Given the description of an element on the screen output the (x, y) to click on. 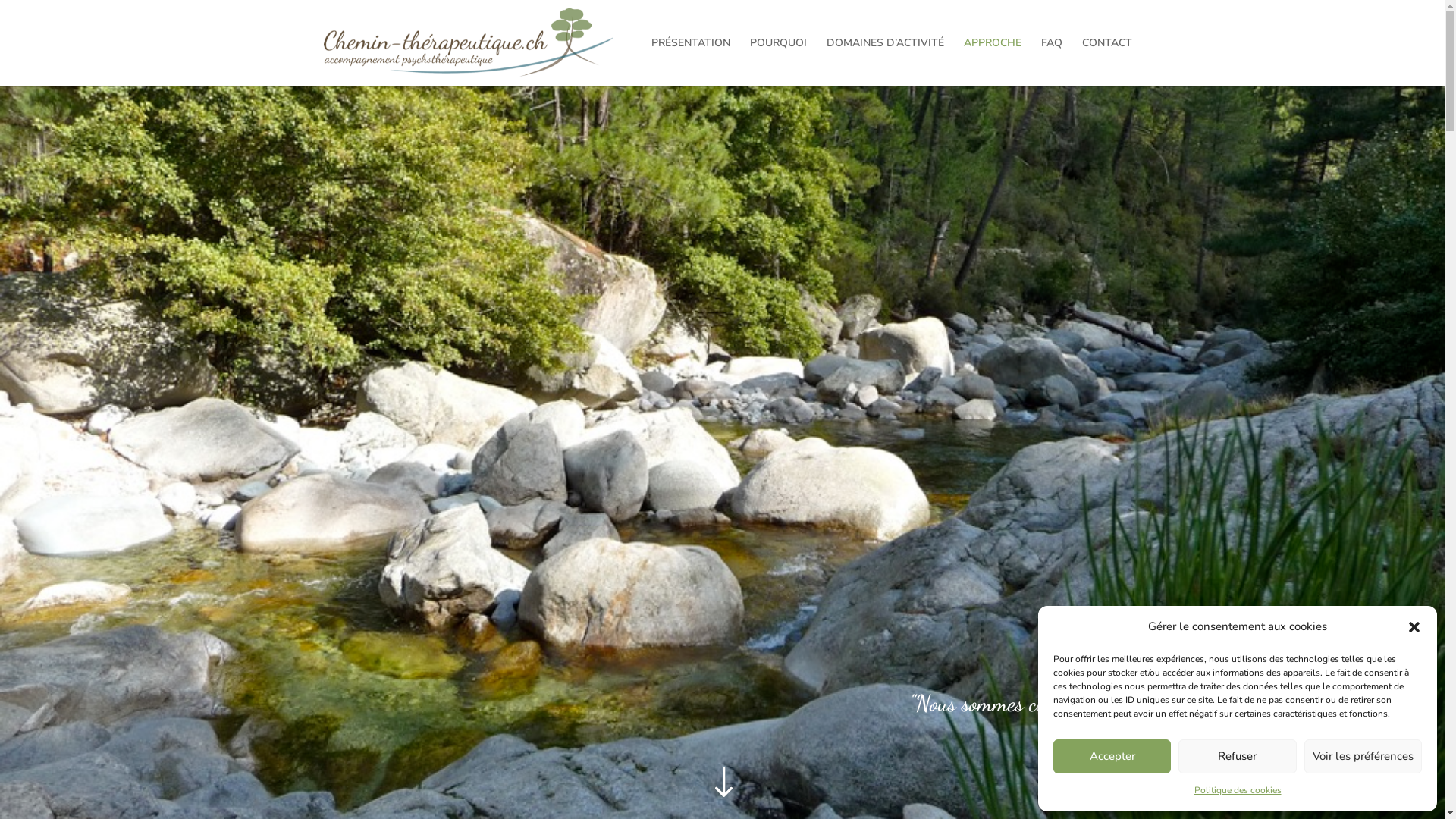
CONTACT Element type: text (1106, 61)
APPROCHE Element type: text (991, 61)
Politique des cookies Element type: text (1236, 790)
Refuser Element type: text (1236, 755)
Accepter Element type: text (1111, 755)
POURQUOI Element type: text (777, 61)
FAQ Element type: text (1050, 61)
" Element type: text (721, 783)
